Given the description of an element on the screen output the (x, y) to click on. 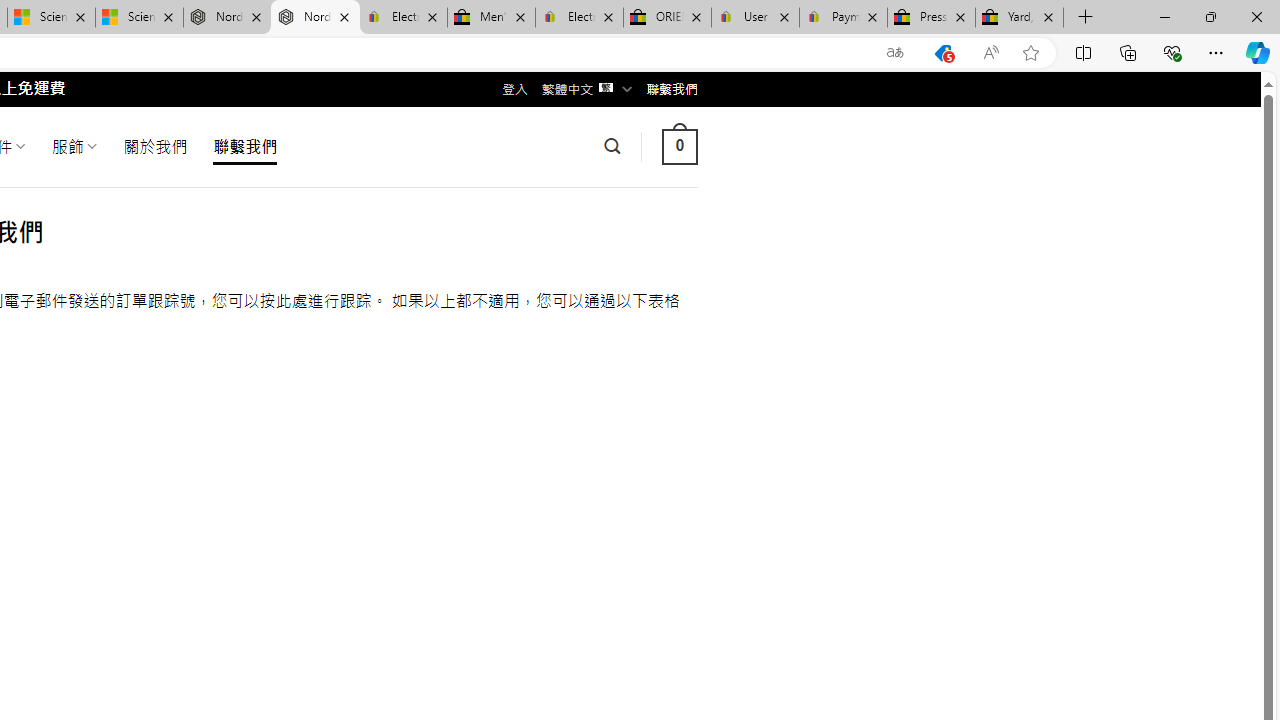
Electronics, Cars, Fashion, Collectibles & More | eBay (579, 17)
Show translate options (895, 53)
  0   (679, 146)
